Given the description of an element on the screen output the (x, y) to click on. 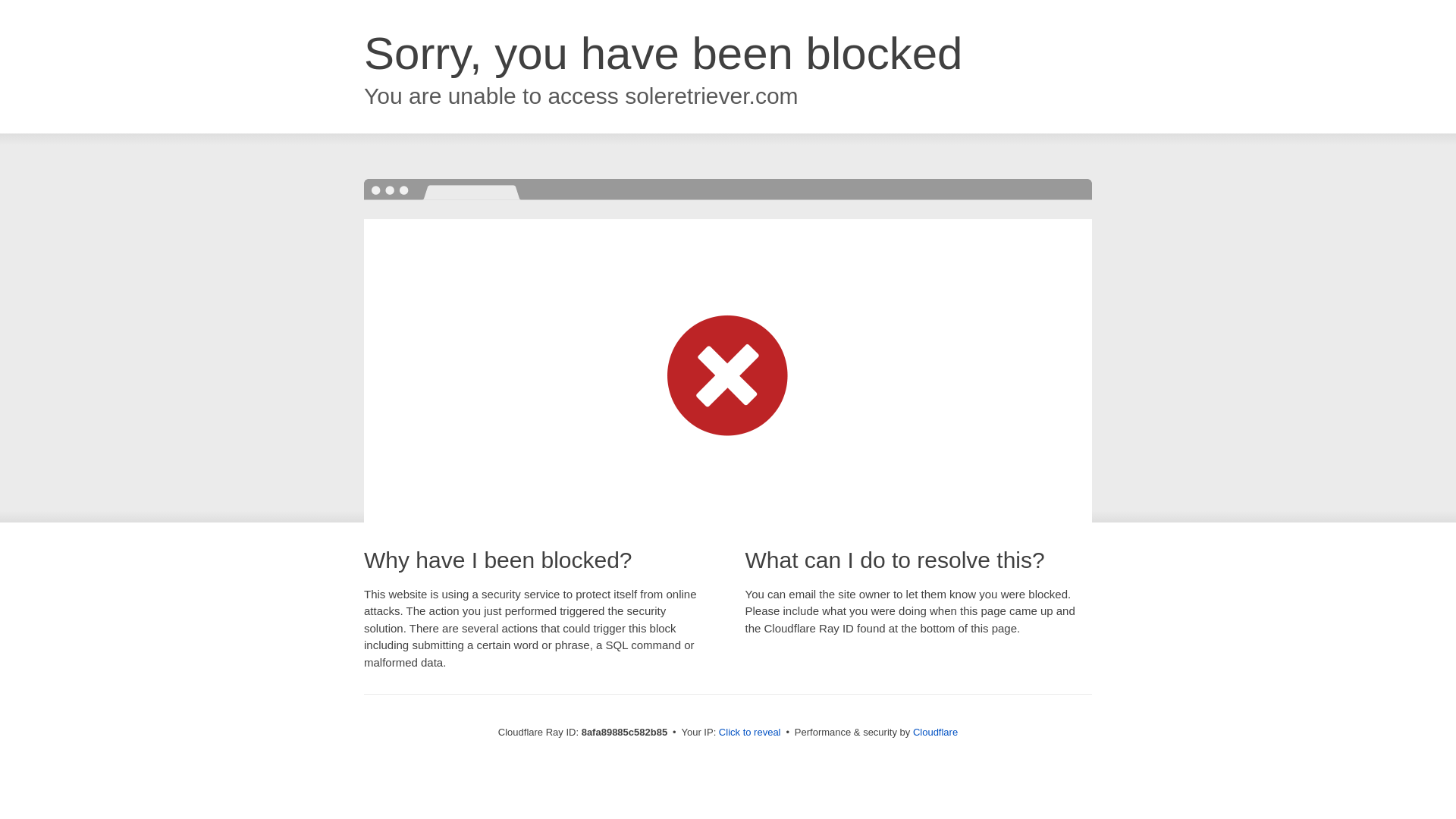
Cloudflare (935, 731)
Click to reveal (749, 732)
